Given the description of an element on the screen output the (x, y) to click on. 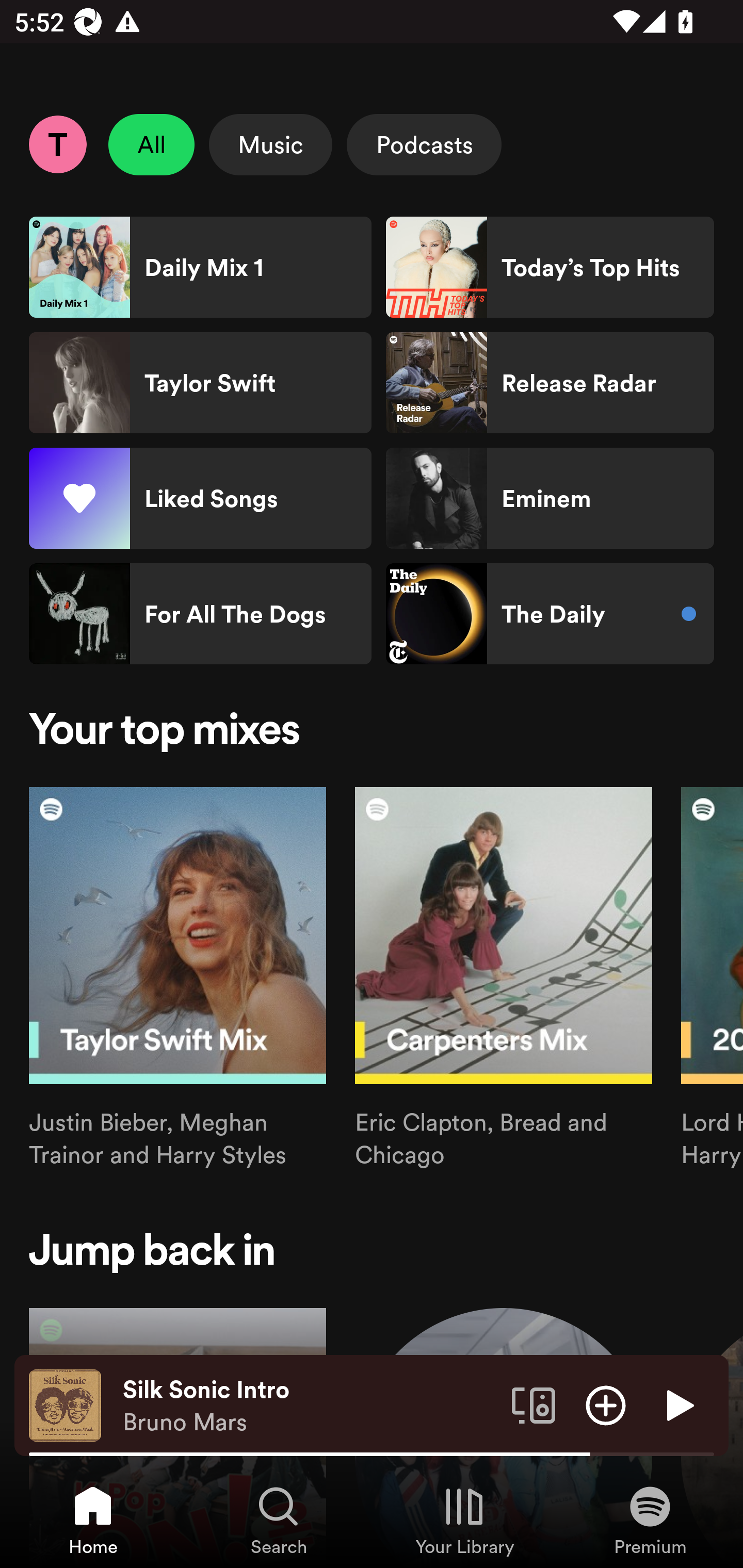
Profile (57, 144)
All Unselect All (151, 144)
Music Select Music (270, 144)
Podcasts Select Podcasts (423, 144)
Daily Mix 1 Shortcut Daily Mix 1 (199, 267)
Today’s Top Hits Shortcut Today’s Top Hits (549, 267)
Taylor Swift Shortcut Taylor Swift (199, 382)
Release Radar Shortcut Release Radar (549, 382)
Liked Songs Shortcut Liked Songs (199, 498)
Eminem Shortcut Eminem (549, 498)
For All The Dogs Shortcut For All The Dogs (199, 613)
The Daily Shortcut The Daily New content (549, 613)
Silk Sonic Intro Bruno Mars (309, 1405)
The cover art of the currently playing track (64, 1404)
Connect to a device. Opens the devices menu (533, 1404)
Add item (605, 1404)
Play (677, 1404)
Home, Tab 1 of 4 Home Home (92, 1519)
Search, Tab 2 of 4 Search Search (278, 1519)
Your Library, Tab 3 of 4 Your Library Your Library (464, 1519)
Premium, Tab 4 of 4 Premium Premium (650, 1519)
